Given the description of an element on the screen output the (x, y) to click on. 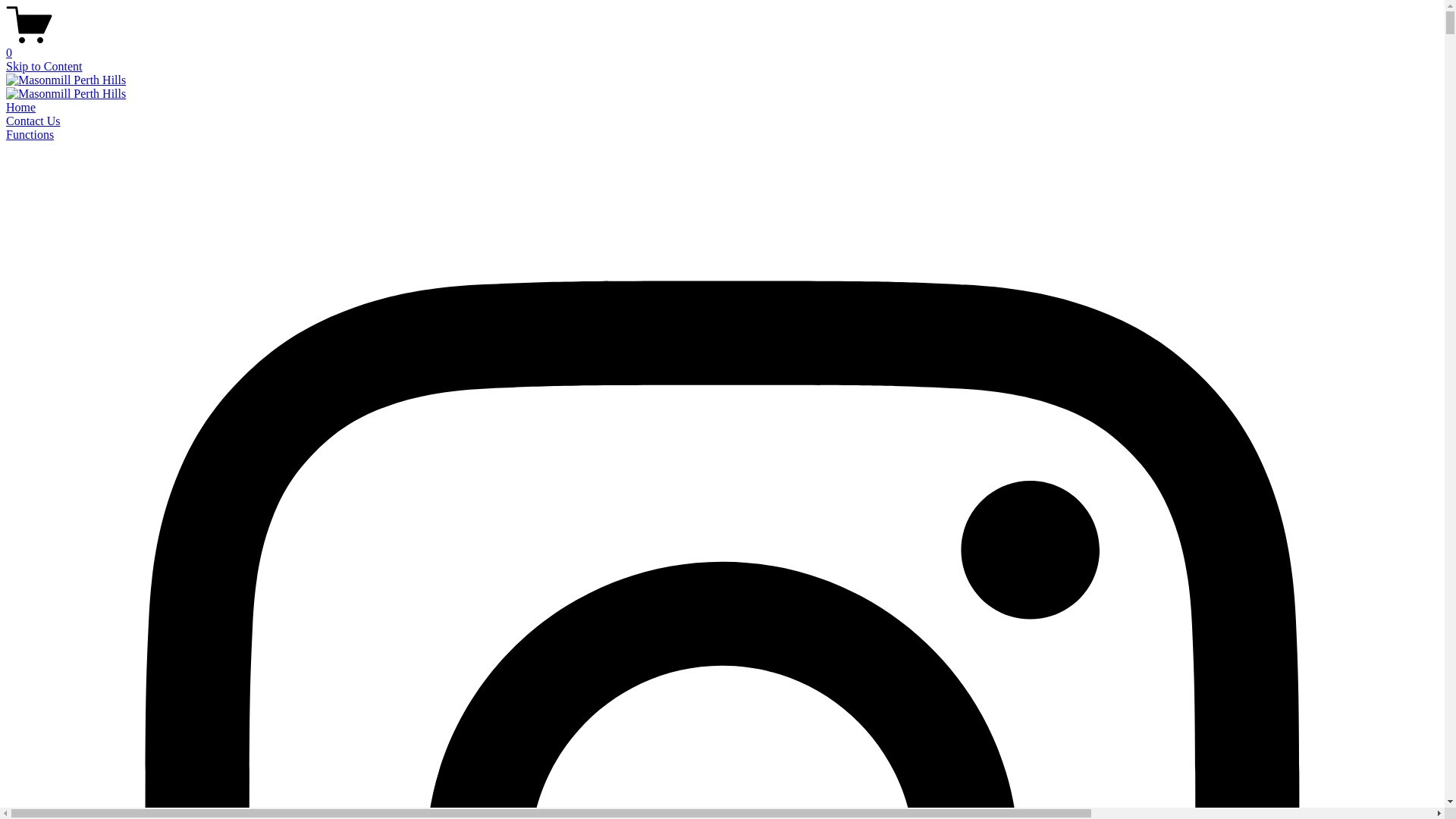
Home Element type: text (20, 106)
Contact Us Element type: text (33, 120)
0 Element type: text (722, 45)
Functions Element type: text (29, 134)
Skip to Content Element type: text (43, 65)
